Given the description of an element on the screen output the (x, y) to click on. 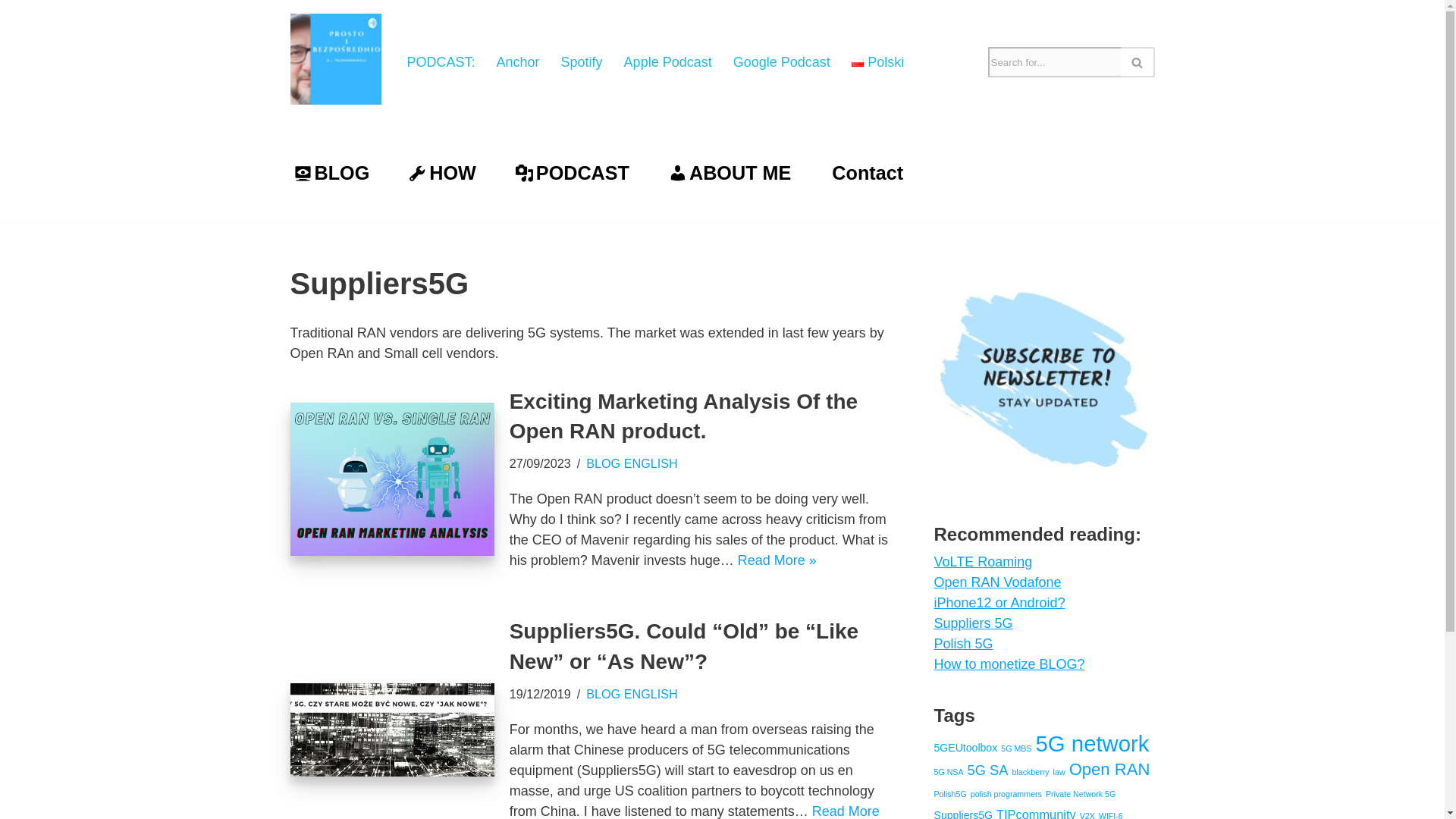
Spotify (581, 62)
BLOG ENGLISH (632, 463)
HOW (441, 172)
BLOG (330, 172)
Skip to content (11, 31)
Polski (877, 62)
Contact (865, 172)
Open RAN Vodafone (997, 581)
PODCAST (571, 172)
Apple Podcast (667, 62)
iPhone12 or Android? (999, 602)
VoLTE Roaming (983, 561)
ABOUT ME (729, 172)
Exciting Marketing Analysis Of the Open RAN product. (391, 479)
BLOG ENGLISH (632, 694)
